Given the description of an element on the screen output the (x, y) to click on. 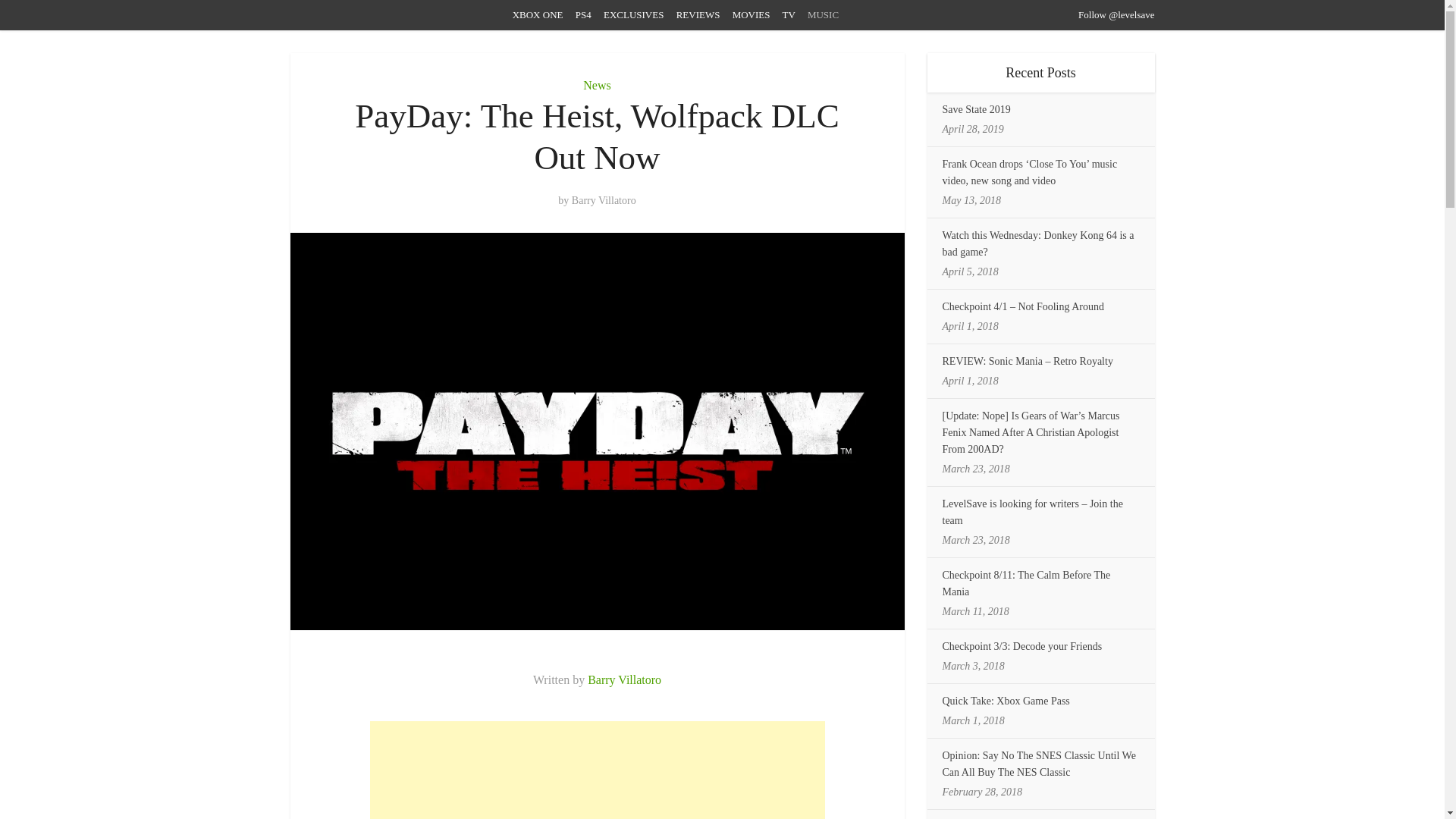
REVIEWS (698, 14)
MOVIES (751, 14)
XBOX ONE (537, 14)
PS4 (583, 14)
Advertisement (597, 770)
Barry Villatoro (624, 679)
News (596, 84)
TV (788, 14)
EXCLUSIVES (633, 14)
Barry Villatoro (604, 201)
